Given the description of an element on the screen output the (x, y) to click on. 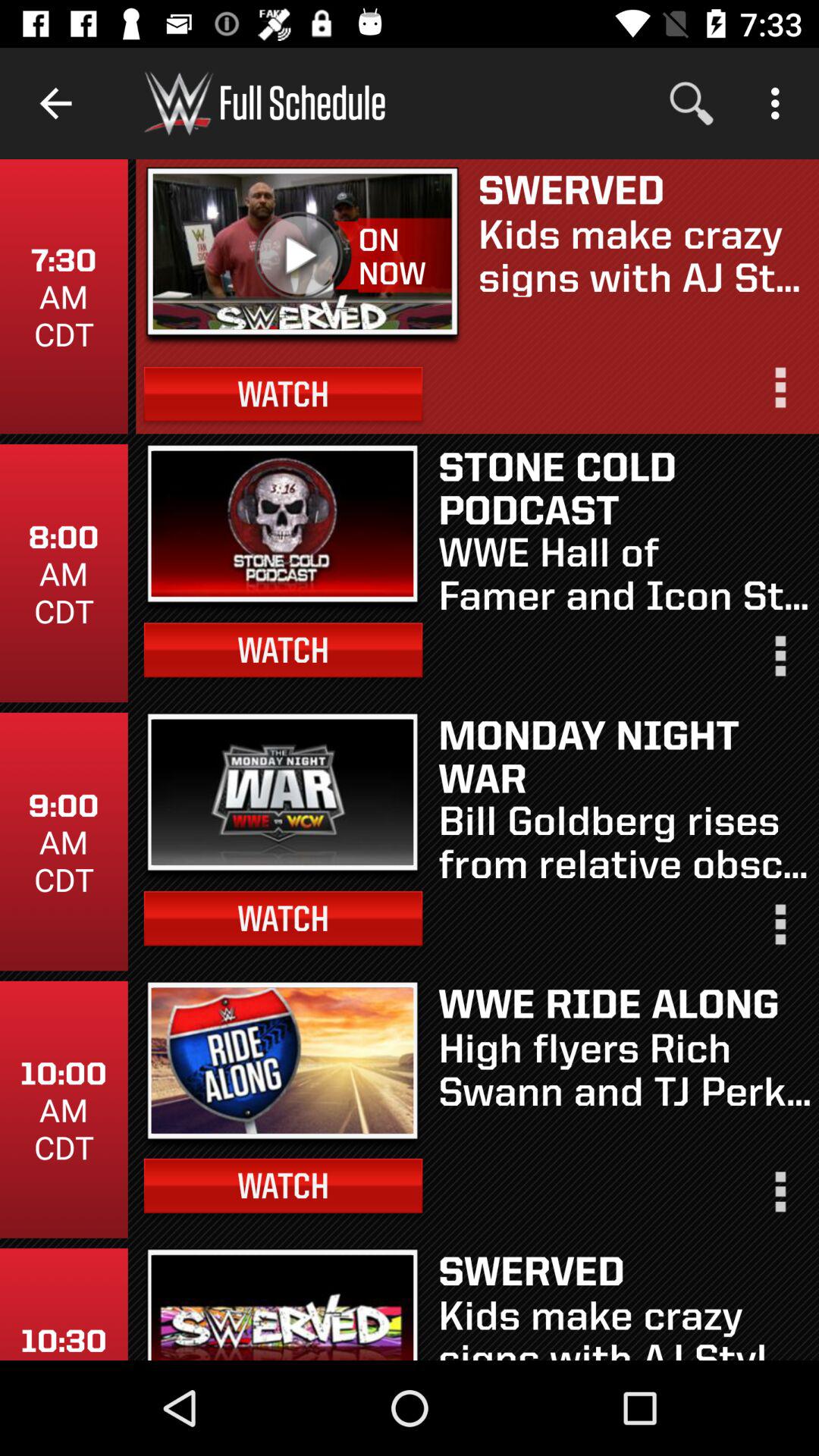
play the video (301, 251)
